Given the description of an element on the screen output the (x, y) to click on. 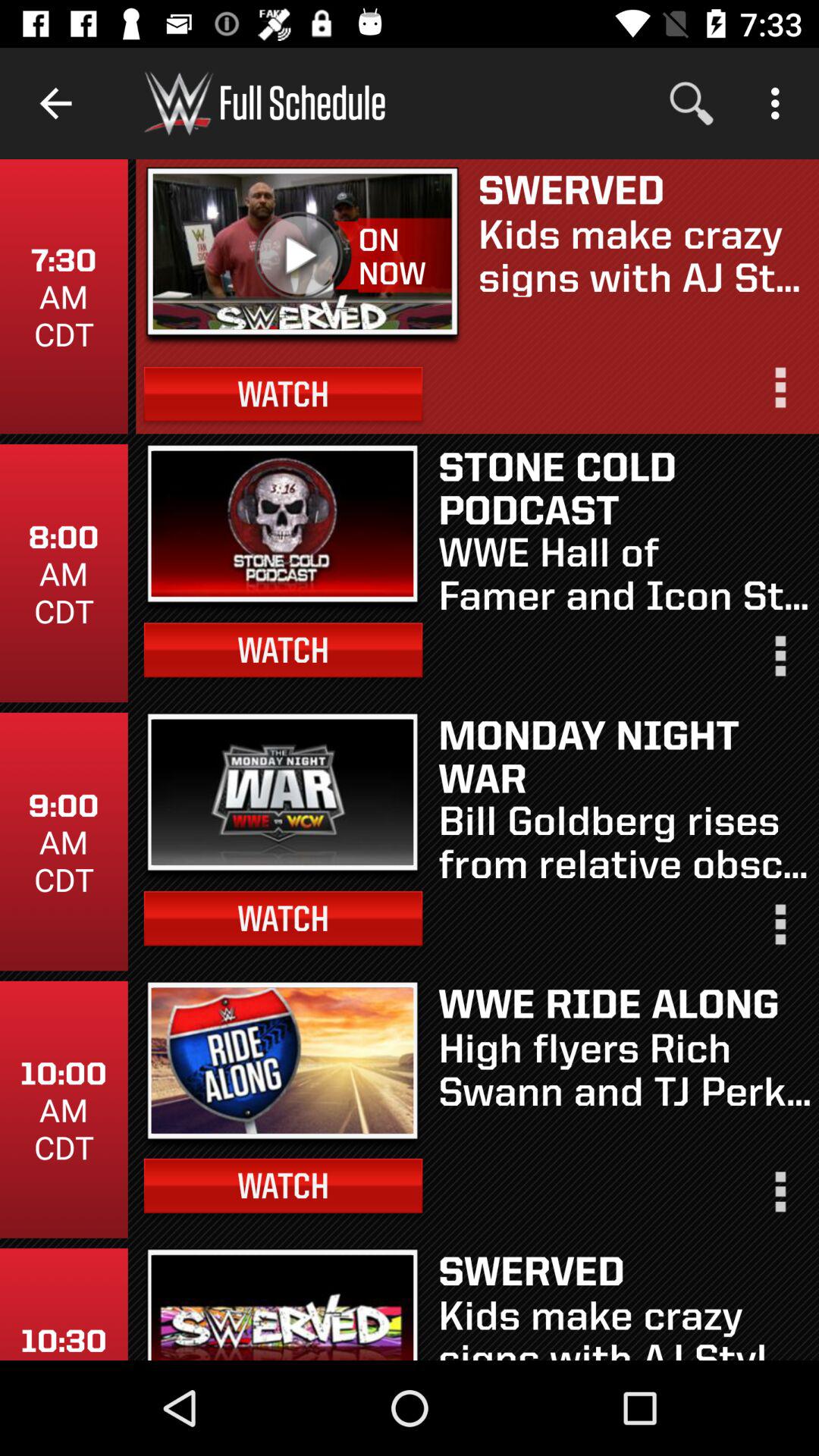
play the video (301, 251)
